Given the description of an element on the screen output the (x, y) to click on. 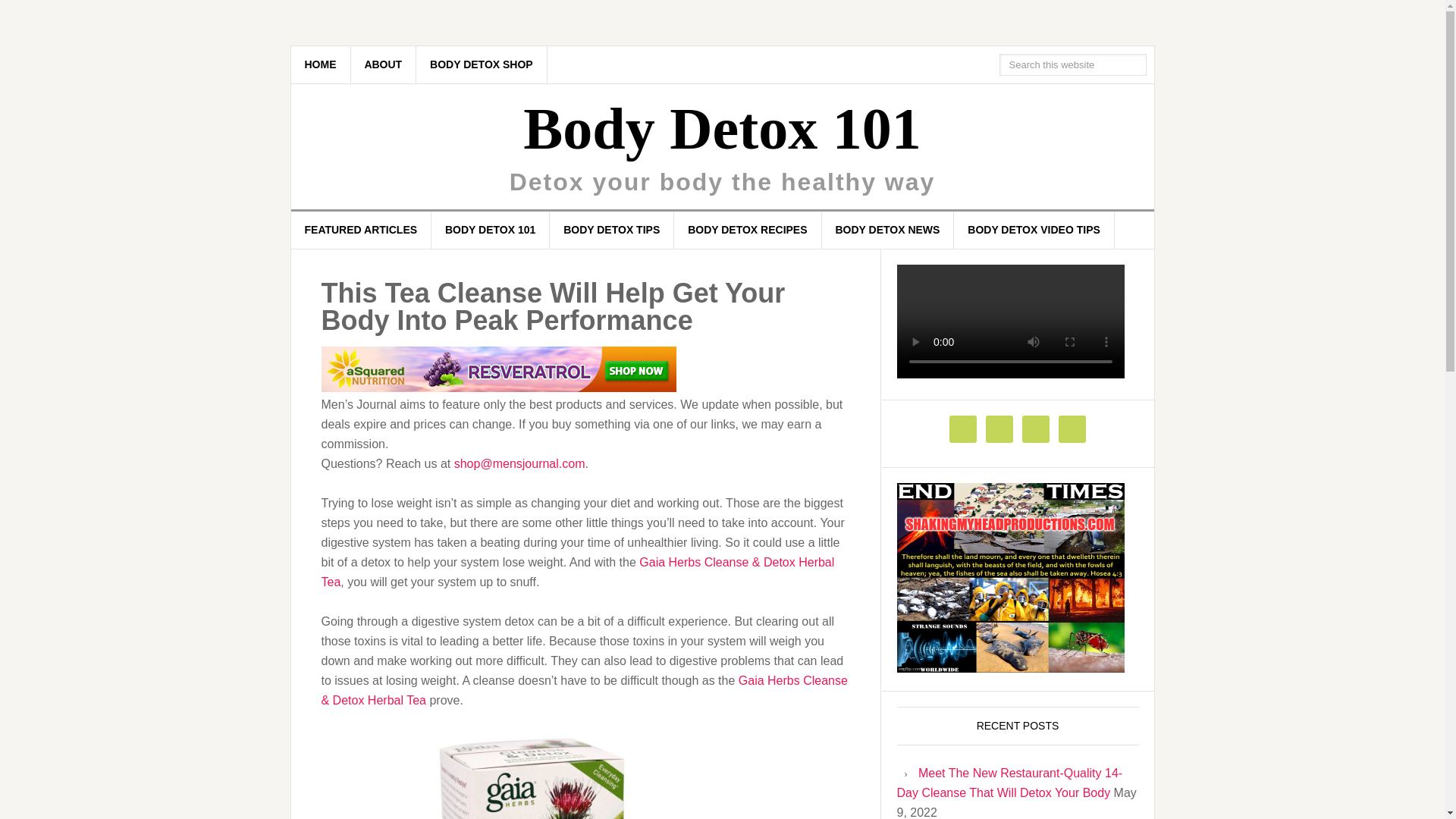
BODY DETOX SHOP (481, 64)
Body Detox 101 (721, 128)
BODY DETOX RECIPES (747, 229)
BODY DETOX NEWS (887, 229)
BODY DETOX 101 (490, 229)
BODY DETOX VIDEO TIPS (1034, 229)
BODY DETOX TIPS (612, 229)
